Given the description of an element on the screen output the (x, y) to click on. 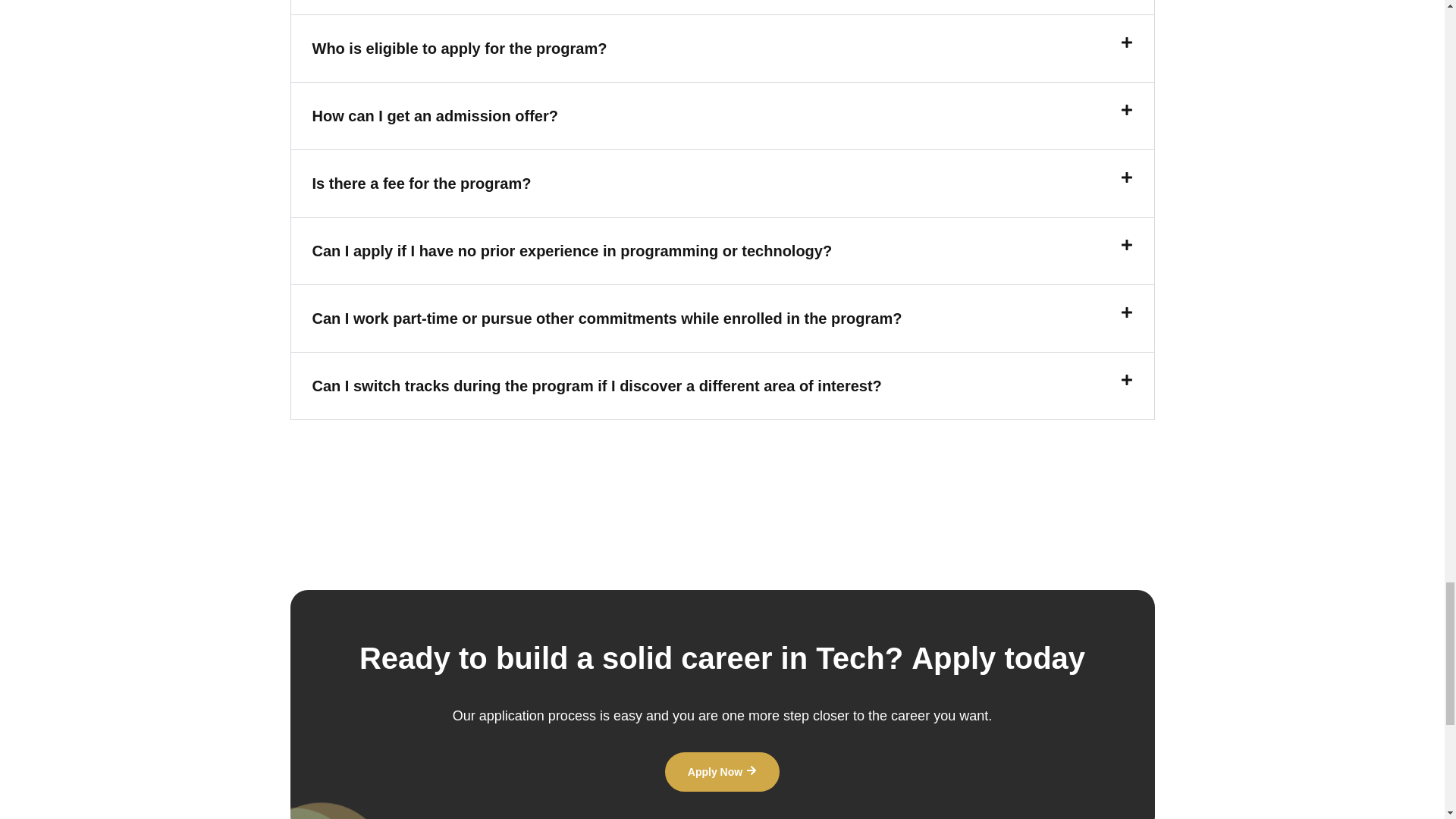
Is there a fee for the program? (422, 183)
Apply Now (721, 771)
Who is eligible to apply for the program? (460, 48)
How can I get an admission offer? (436, 115)
